Given the description of an element on the screen output the (x, y) to click on. 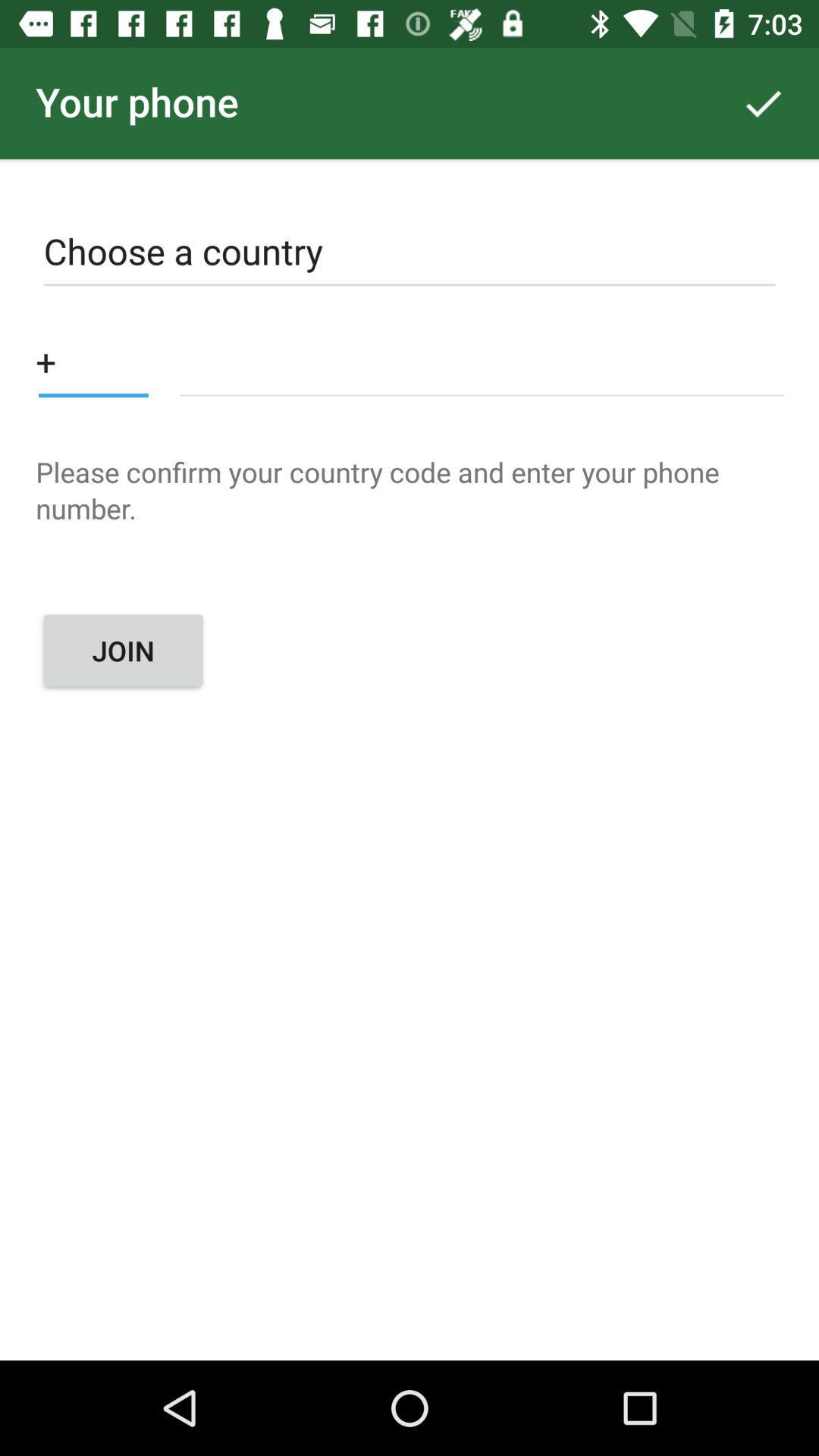
tap the app below choose a country app (481, 361)
